Given the description of an element on the screen output the (x, y) to click on. 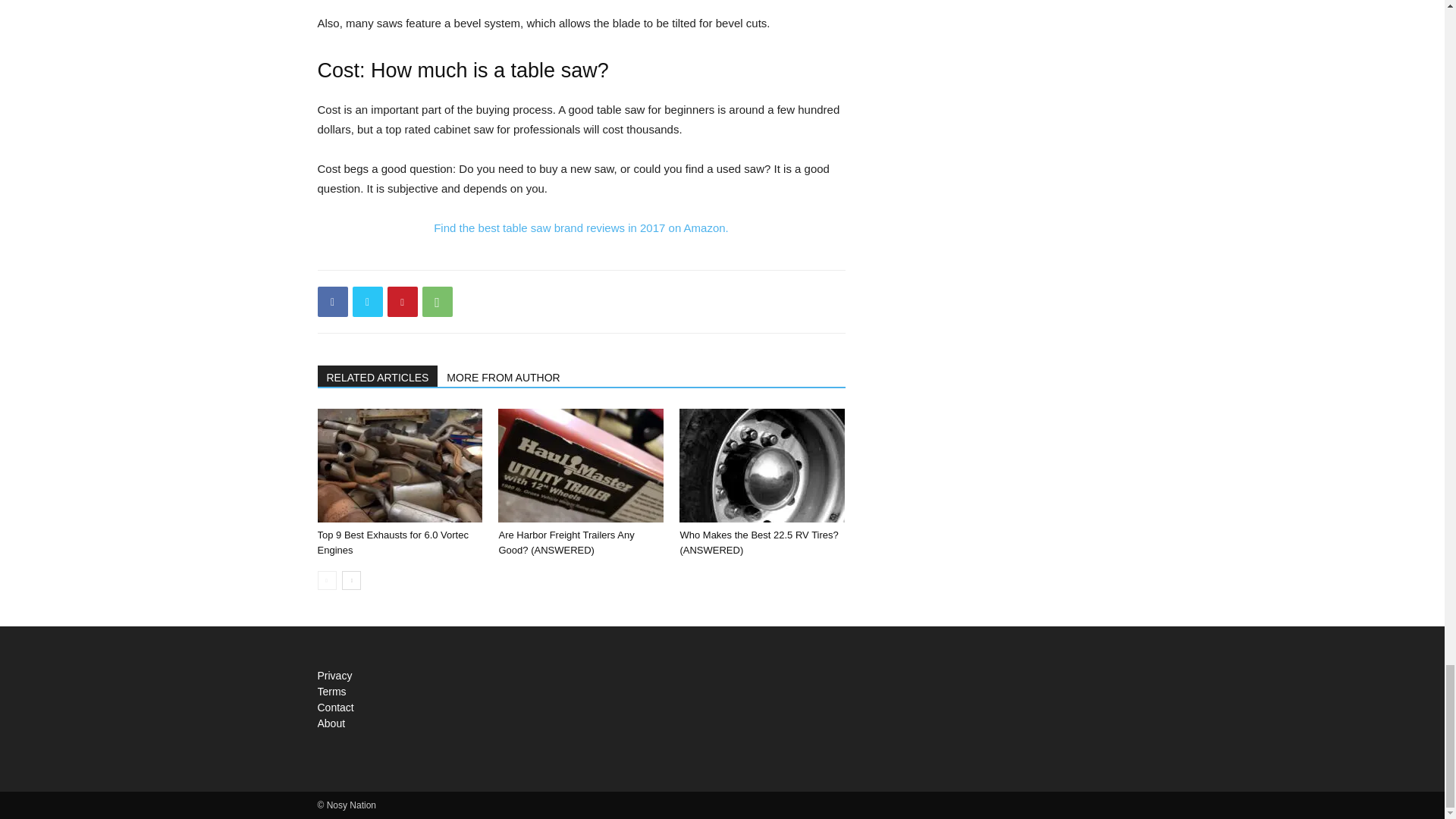
Top 9 Best Exhausts for 6.0 Vortec Engines (392, 542)
Find the best table saw brand reviews in 2017 on Amazon. (581, 227)
Top 9 Best Exhausts for 6.0 Vortec Engines (392, 542)
WhatsApp (436, 301)
Twitter (366, 301)
Pinterest (401, 301)
Facebook (332, 301)
MORE FROM AUTHOR (503, 375)
Top 9 Best Exhausts for 6.0 Vortec Engines (399, 465)
RELATED ARTICLES (377, 375)
